Given the description of an element on the screen output the (x, y) to click on. 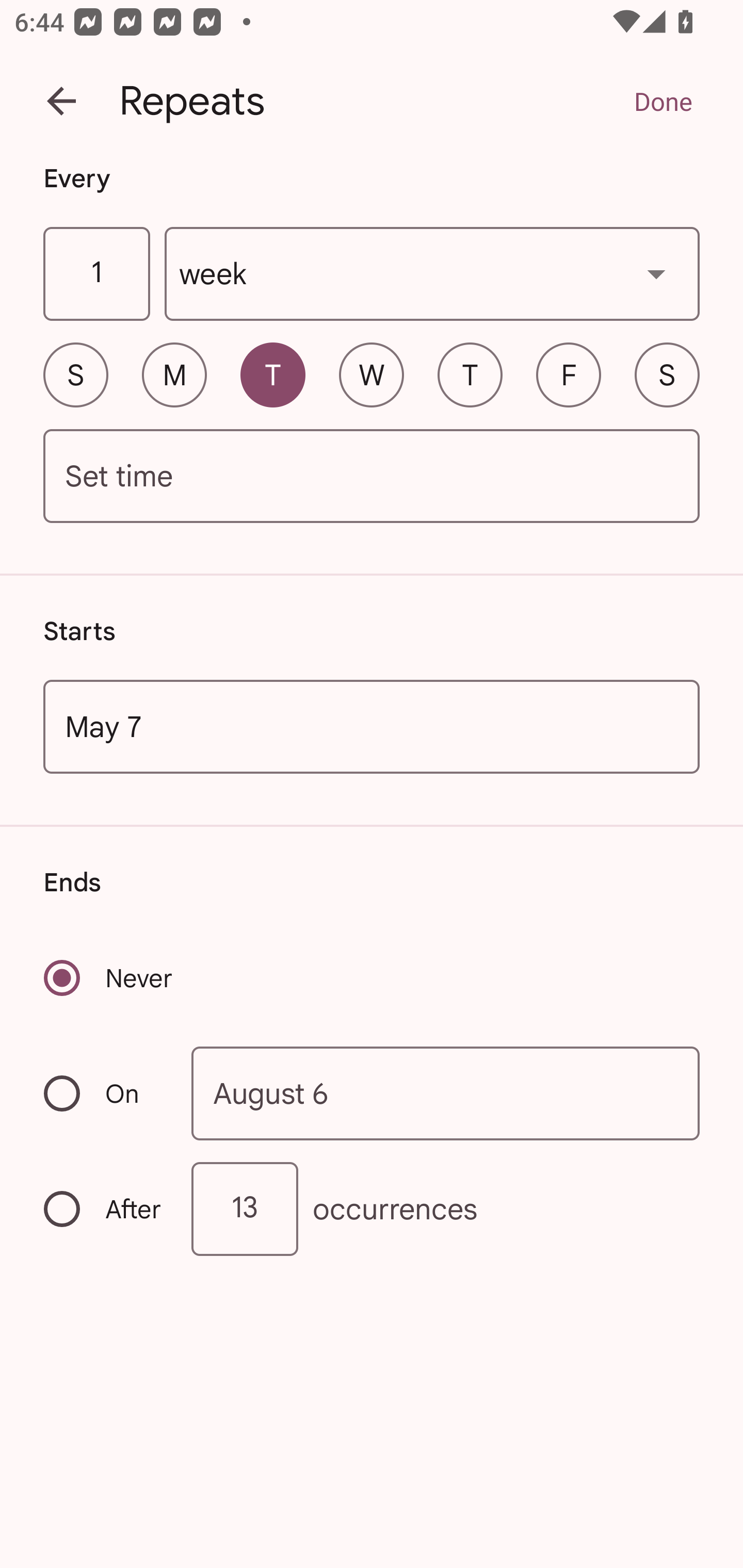
Back (61, 101)
Done (663, 101)
1 (96, 274)
week (431, 274)
Show dropdown menu (655, 273)
S Sunday (75, 374)
M Monday (173, 374)
T Tuesday, selected (272, 374)
W Wednesday (371, 374)
T Thursday (469, 374)
F Friday (568, 374)
S Saturday (666, 374)
Set time (371, 476)
May 7 (371, 726)
Never Recurrence never ends (109, 978)
August 6 (445, 1092)
On Recurrence ends on a specific date (104, 1093)
13 (244, 1208)
